Given the description of an element on the screen output the (x, y) to click on. 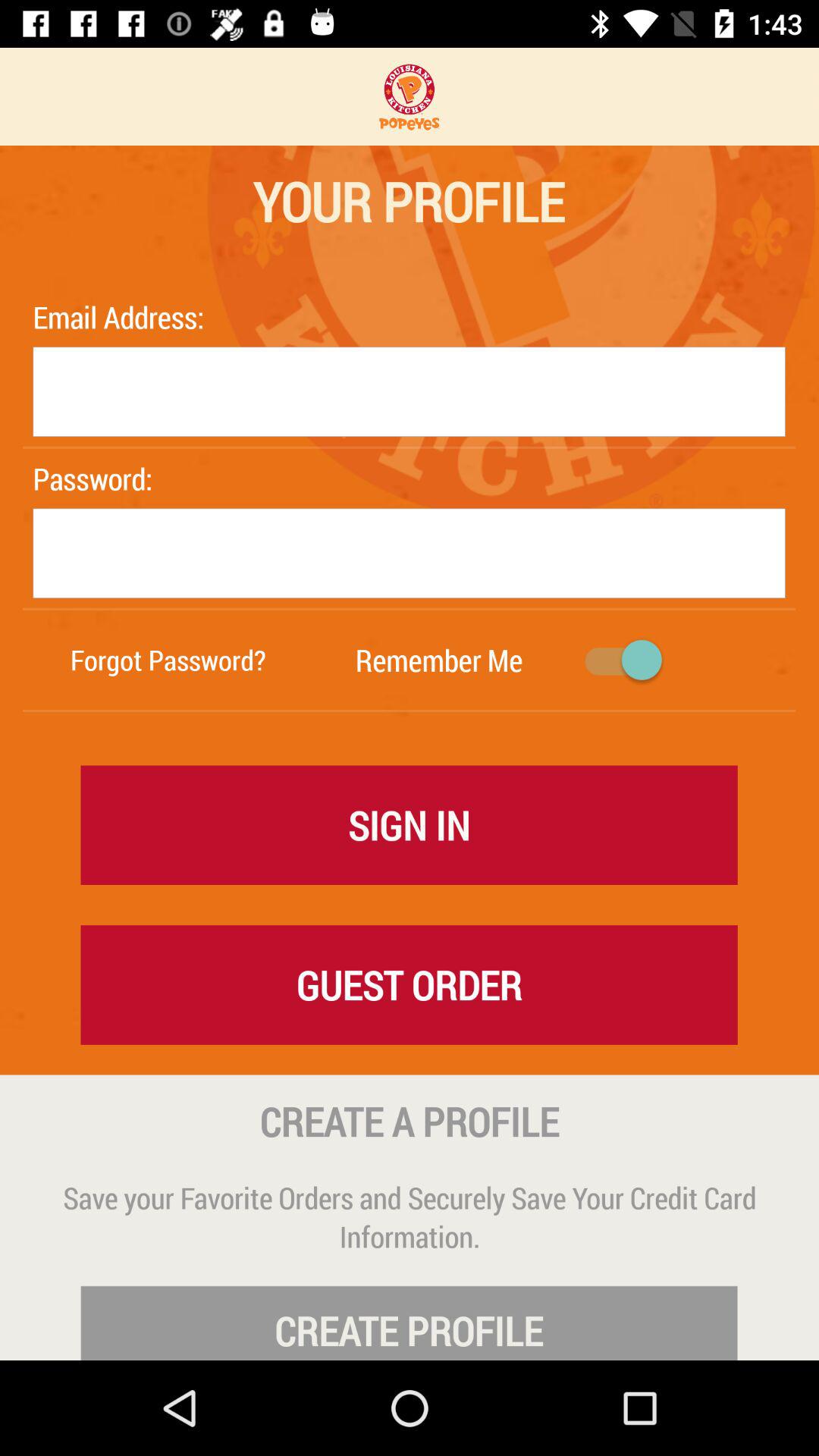
turn on the your profile icon (408, 201)
